Given the description of an element on the screen output the (x, y) to click on. 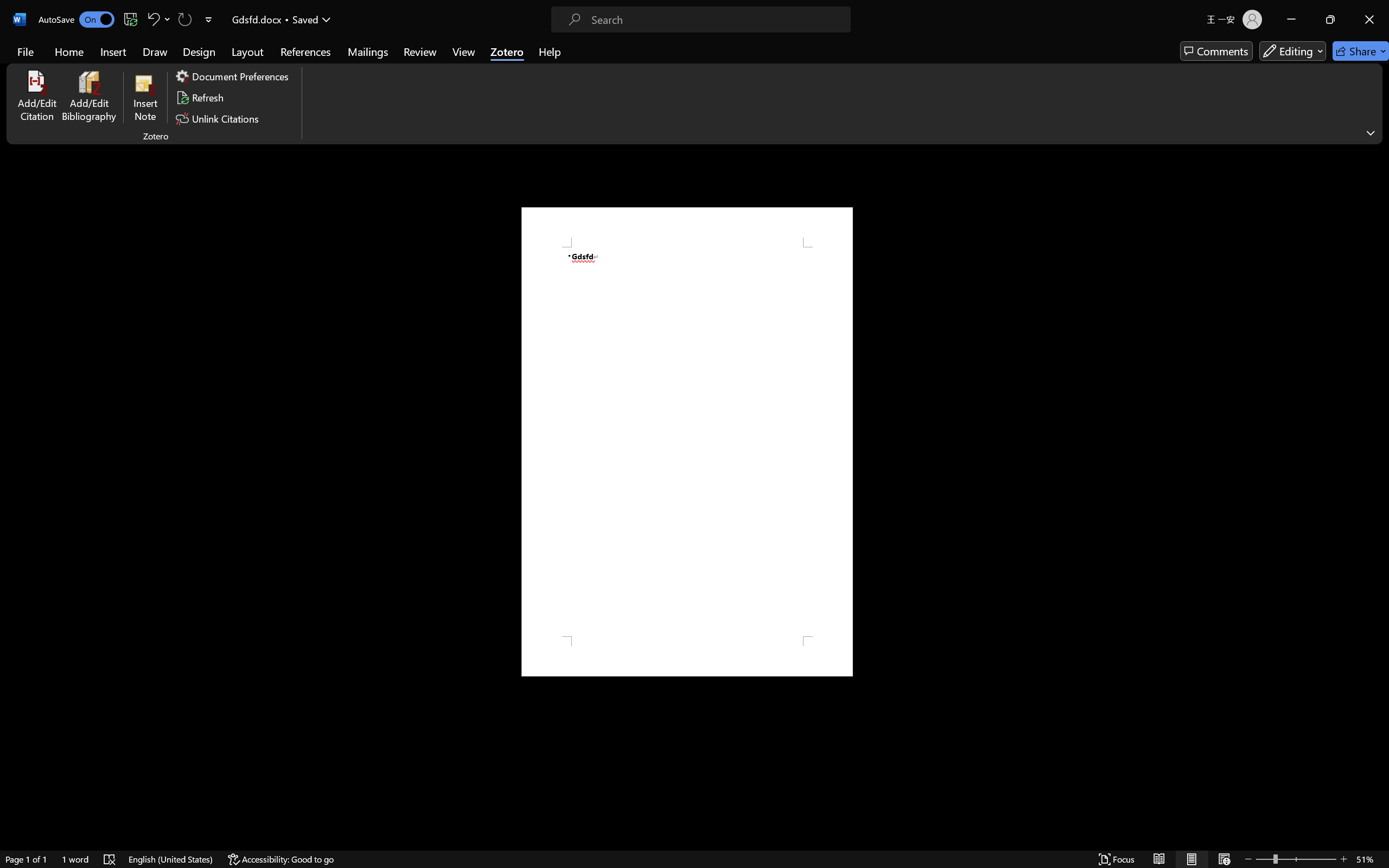
Check for Issues (131, 189)
Template (549, 255)
Size (549, 117)
Title (549, 186)
